Given the description of an element on the screen output the (x, y) to click on. 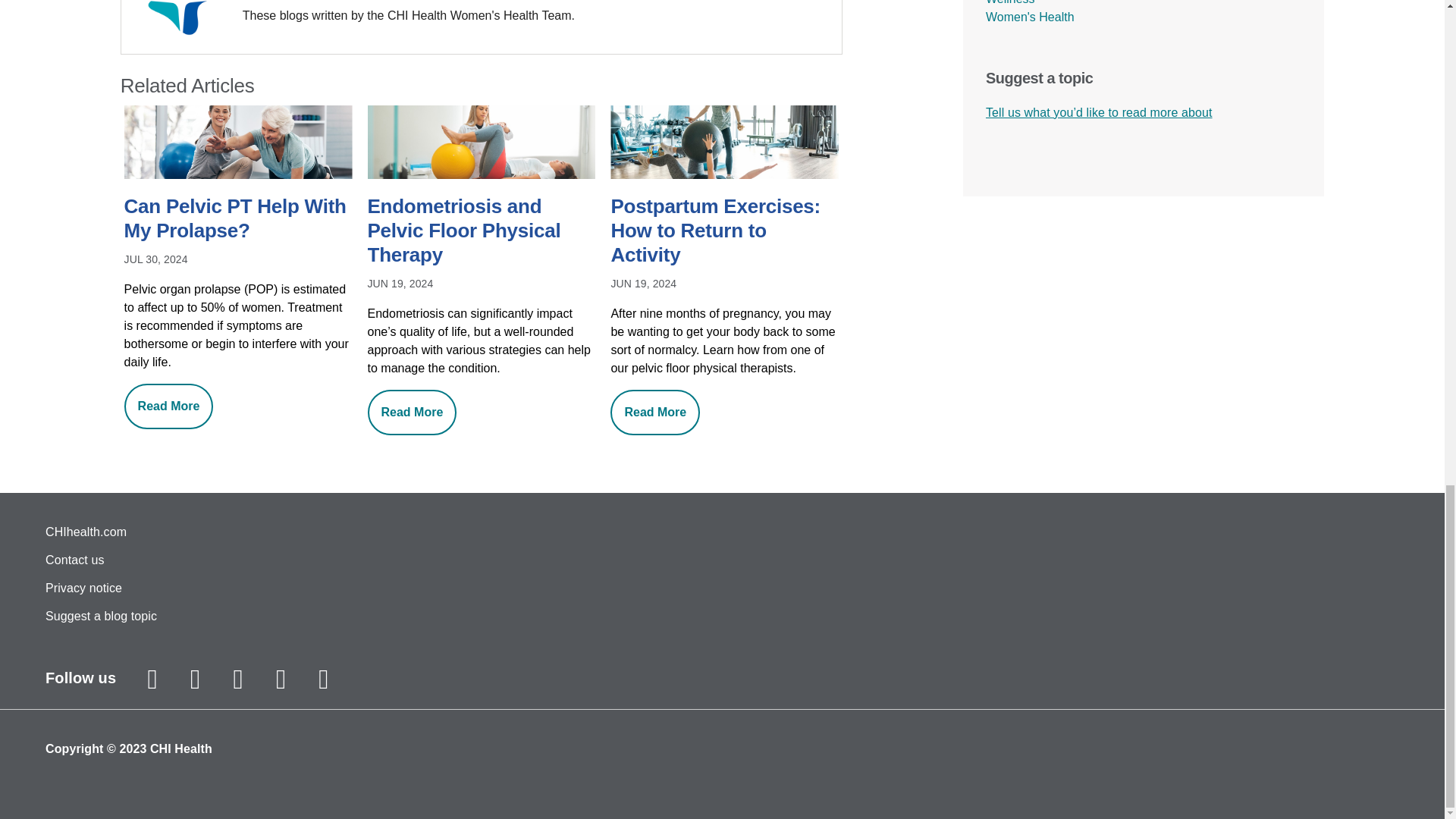
CHI Health Twitter page (237, 678)
CHI Health Facebook page (195, 678)
Read More (168, 406)
CHI Health Linkedin page (323, 678)
CHI Health Instagram page (151, 678)
CHI Health Youtube page (280, 678)
Can Pelvic PT Help With My Prolapse? (237, 220)
Read More (412, 411)
Read More (655, 411)
Endometriosis and Pelvic Floor Physical Therapy (481, 232)
